Given the description of an element on the screen output the (x, y) to click on. 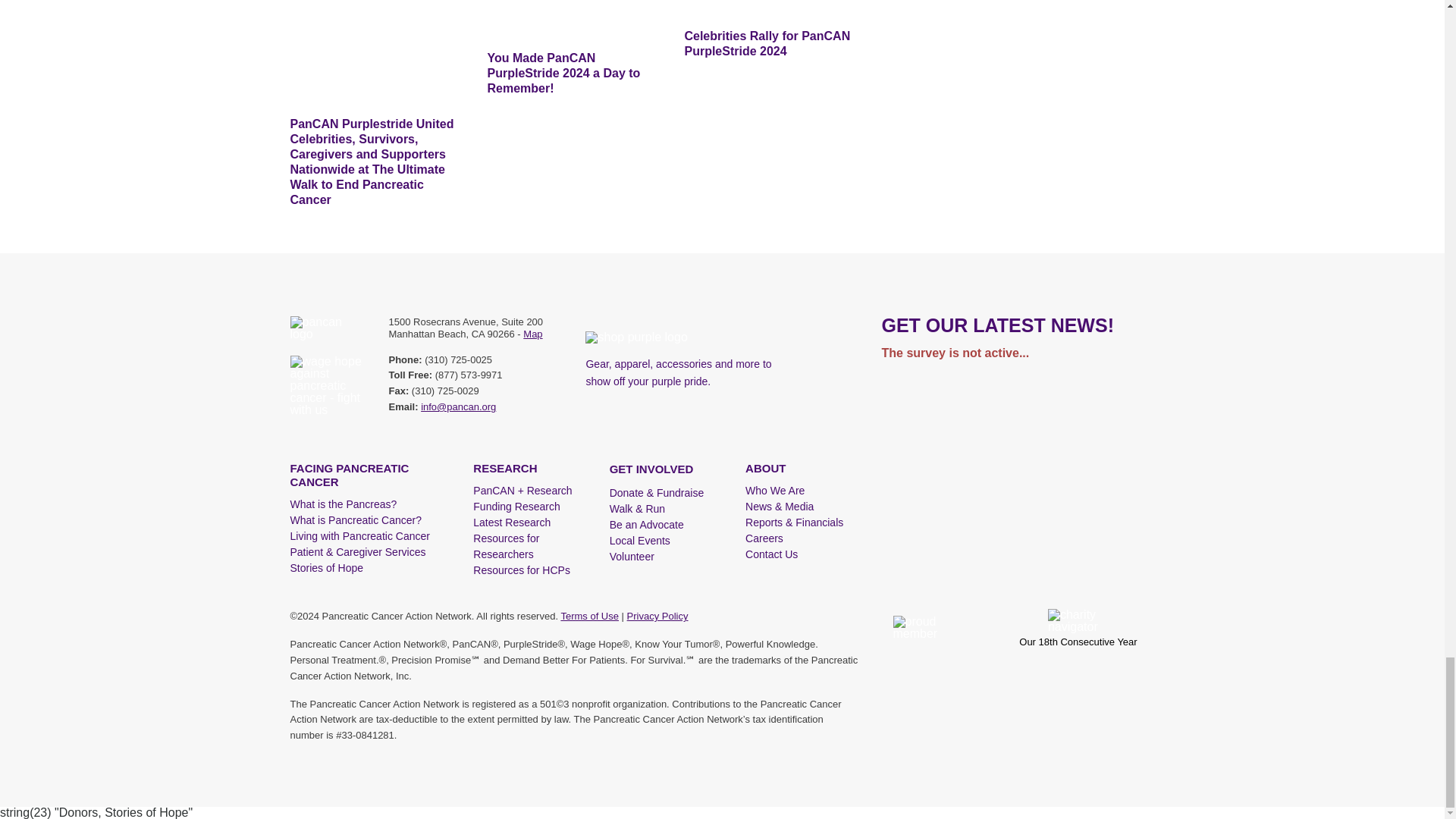
Celebrities Rally for PanCAN PurpleStride 2024 (771, 10)
You Made PanCAN PurpleStride 2024 a Day to Remember! (573, 21)
